Given the description of an element on the screen output the (x, y) to click on. 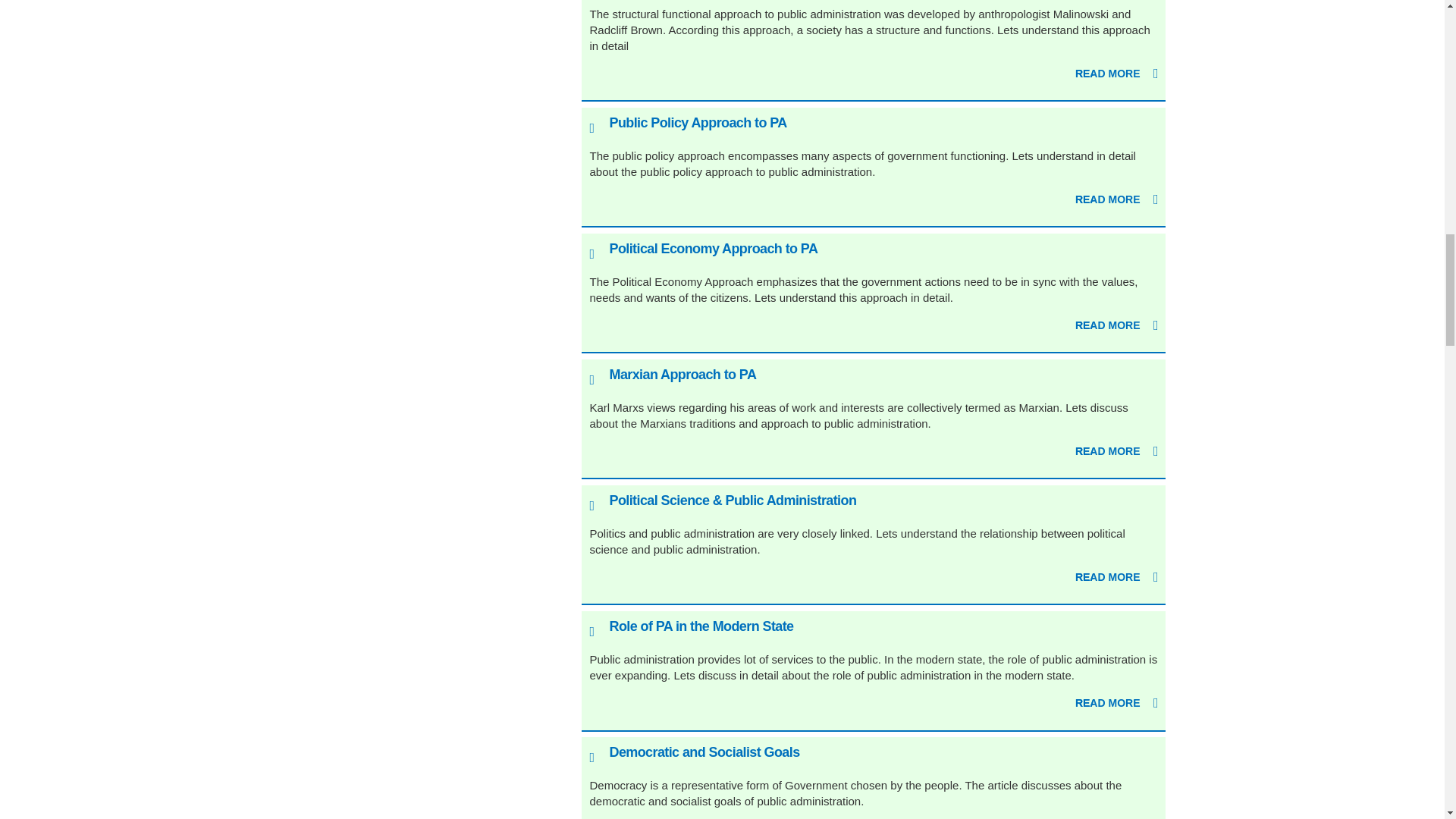
Public Policy Approach to PA (697, 122)
Political Economy Approach to PA (712, 248)
READ MORE (1116, 73)
READ MORE (1116, 200)
